Given the description of an element on the screen output the (x, y) to click on. 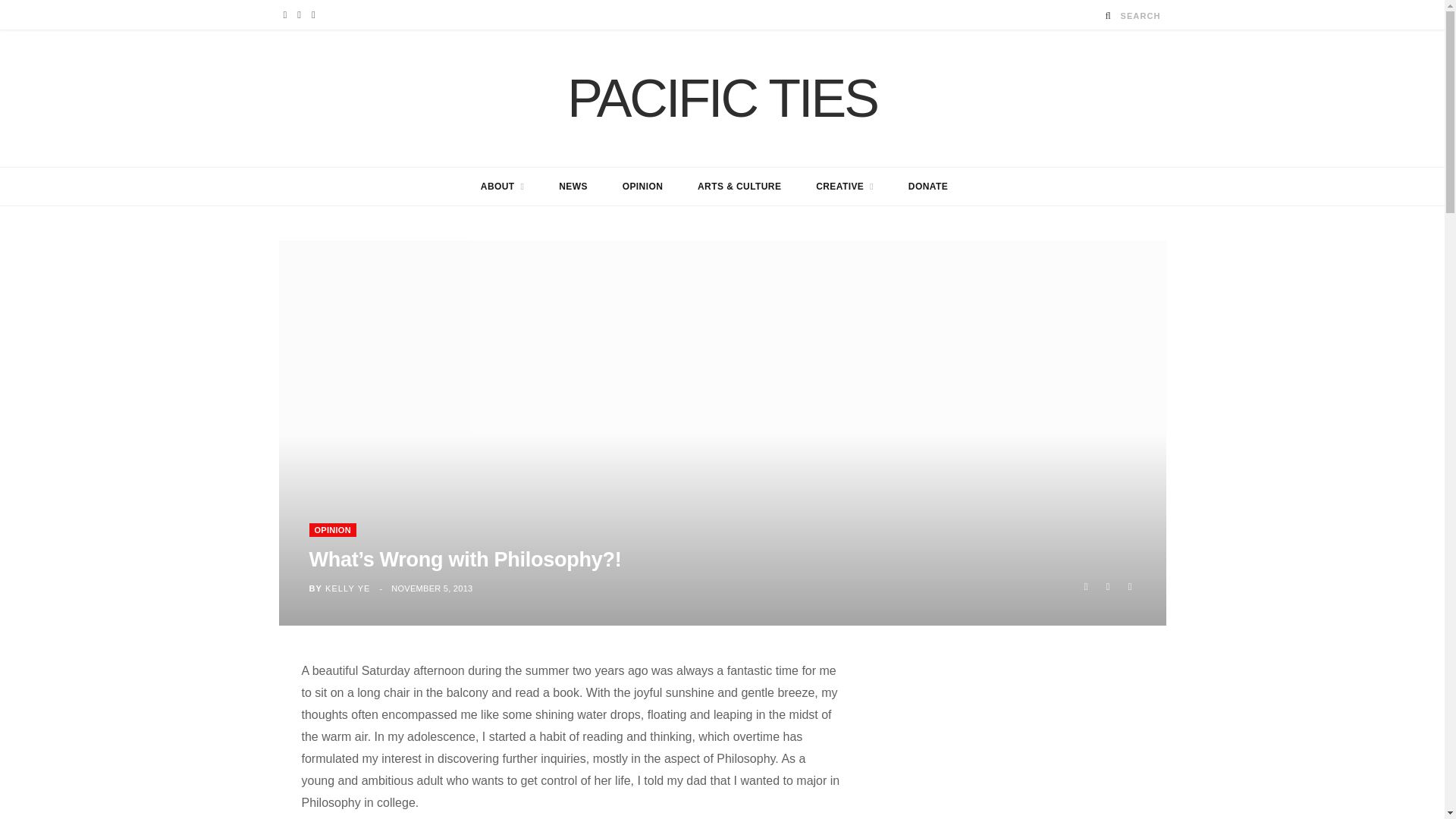
PACIFIC TIES (722, 98)
Share on Twitter (1106, 586)
CREATIVE (844, 186)
OPINION (643, 186)
OPINION (332, 530)
KELLY YE (347, 587)
DONATE (927, 186)
Posts by Kelly Ye (347, 587)
NEWS (573, 186)
ABOUT (502, 186)
